Given the description of an element on the screen output the (x, y) to click on. 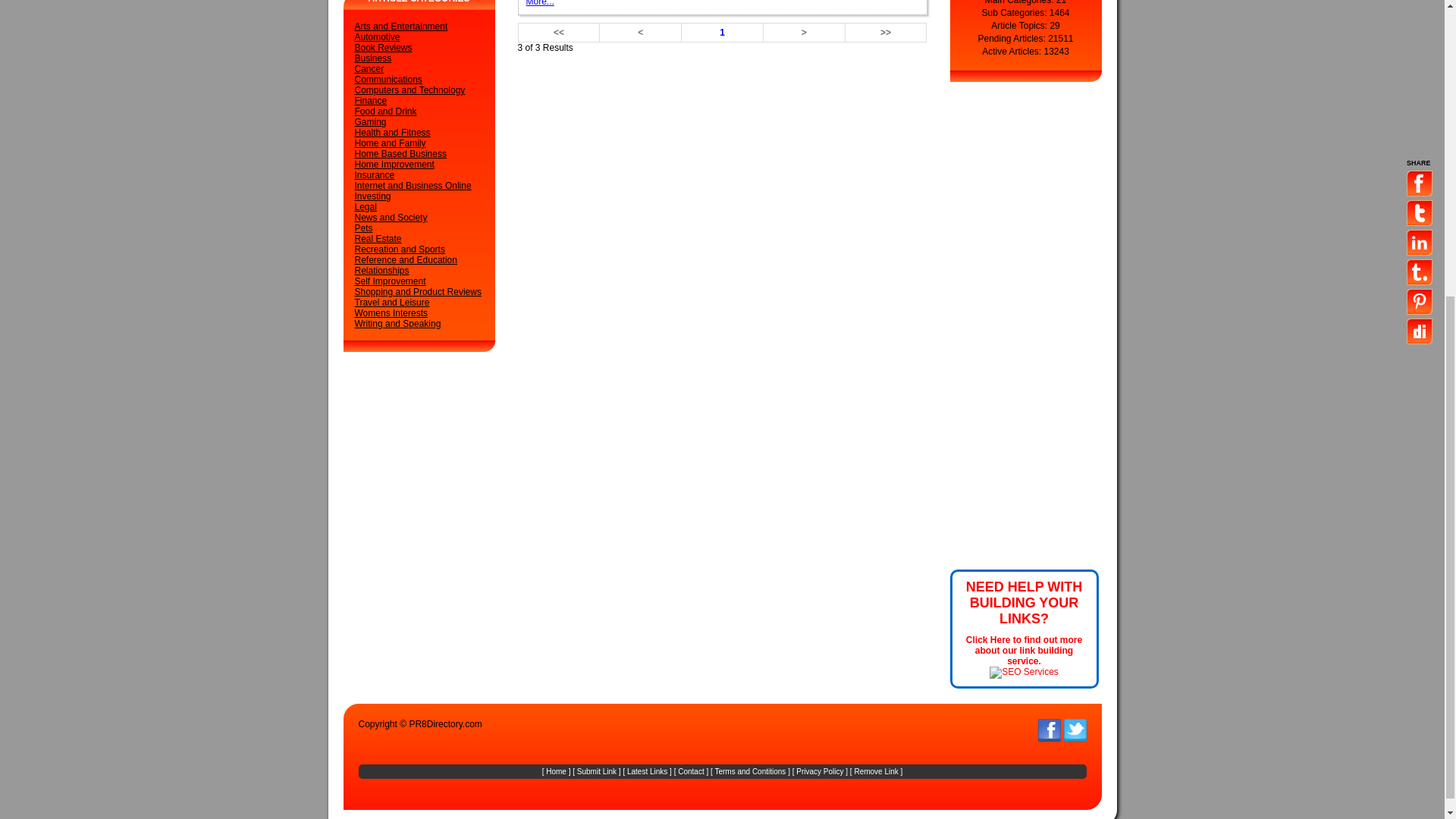
Next Page (803, 32)
First Page (558, 32)
Arts and Entertainment (401, 26)
Last Page (885, 32)
Automotive (377, 36)
Previous page (640, 32)
Page number 1 (721, 32)
